Given the description of an element on the screen output the (x, y) to click on. 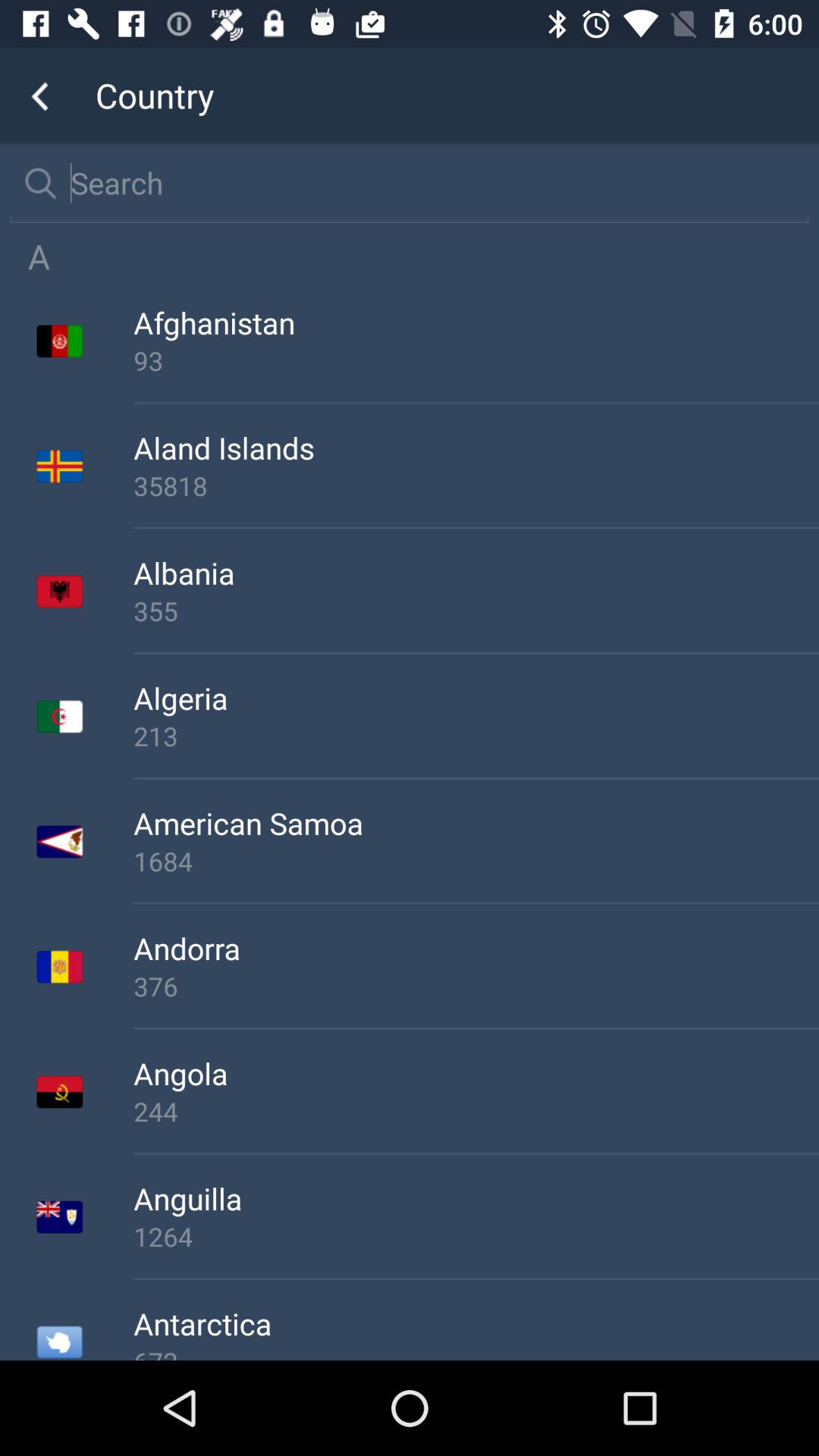
jump until 213 (476, 735)
